Given the description of an element on the screen output the (x, y) to click on. 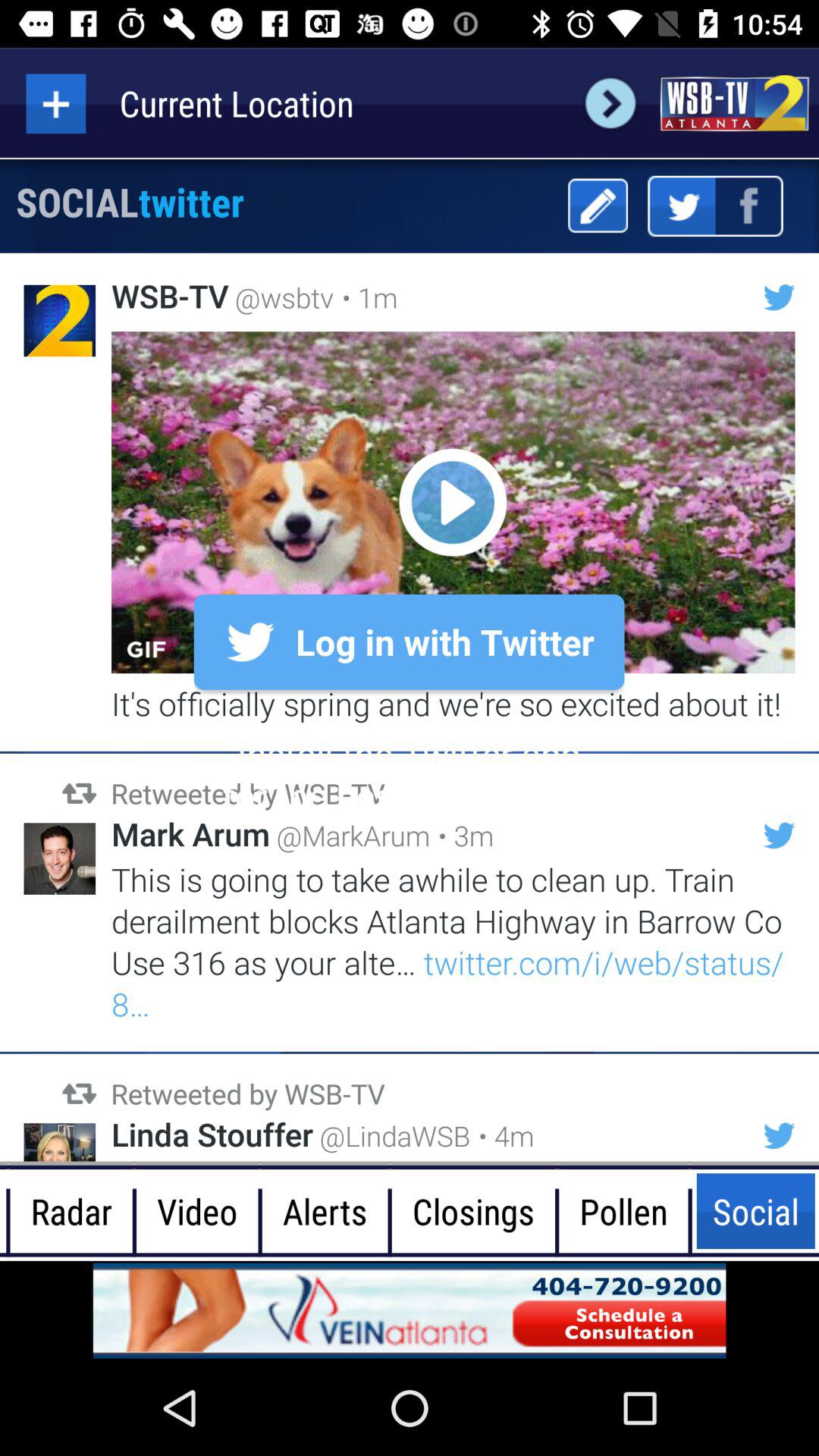
advertisement for vein atlanta (409, 1310)
